Given the description of an element on the screen output the (x, y) to click on. 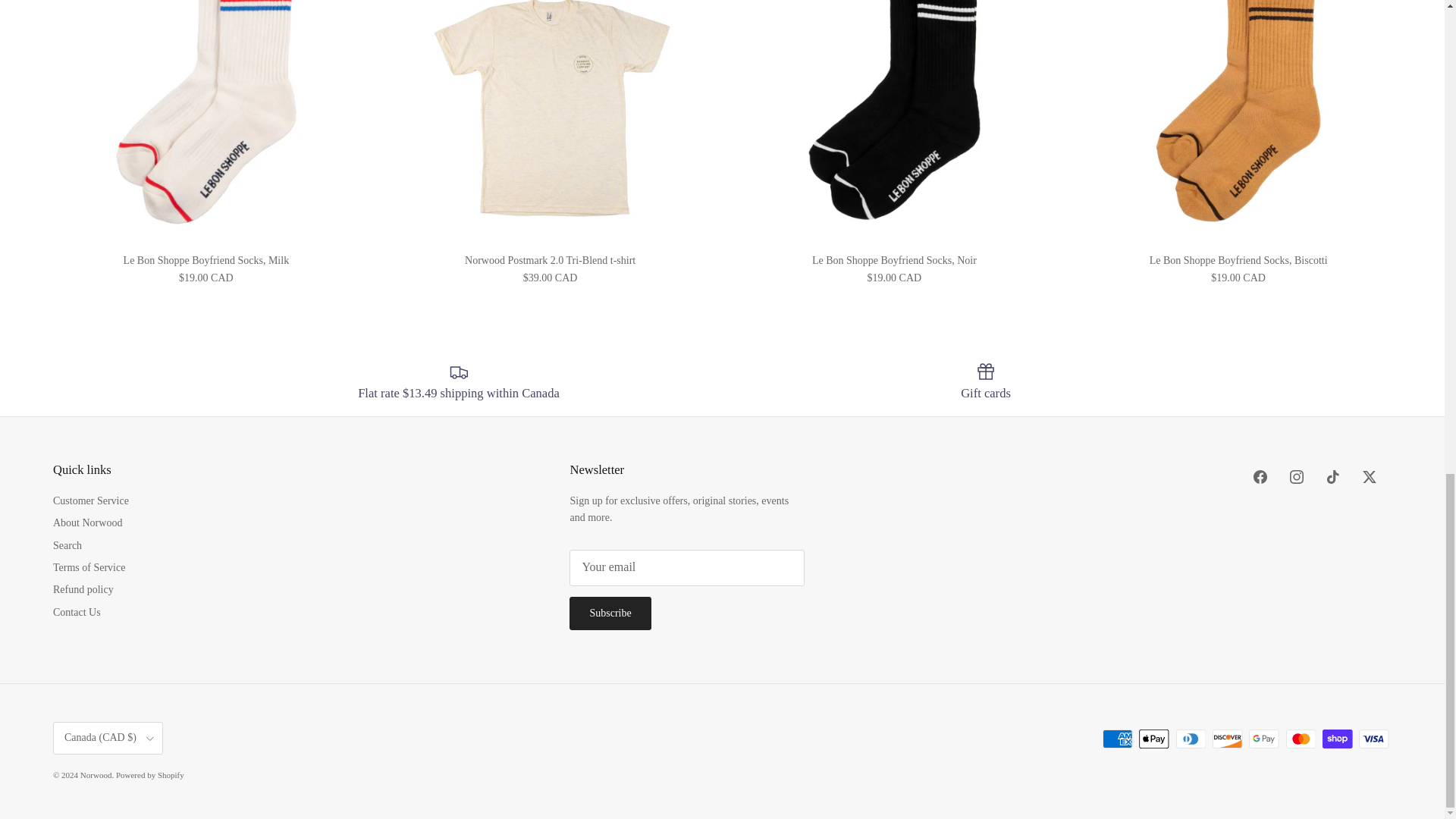
Norwood on Facebook (1259, 477)
Norwood on Twitter (1368, 477)
Discover (1226, 738)
Norwood on TikTok (1332, 477)
Diners Club (1190, 738)
American Express (1117, 738)
Google Pay (1263, 738)
Norwood on Instagram (1296, 477)
Apple Pay (1153, 738)
